Given the description of an element on the screen output the (x, y) to click on. 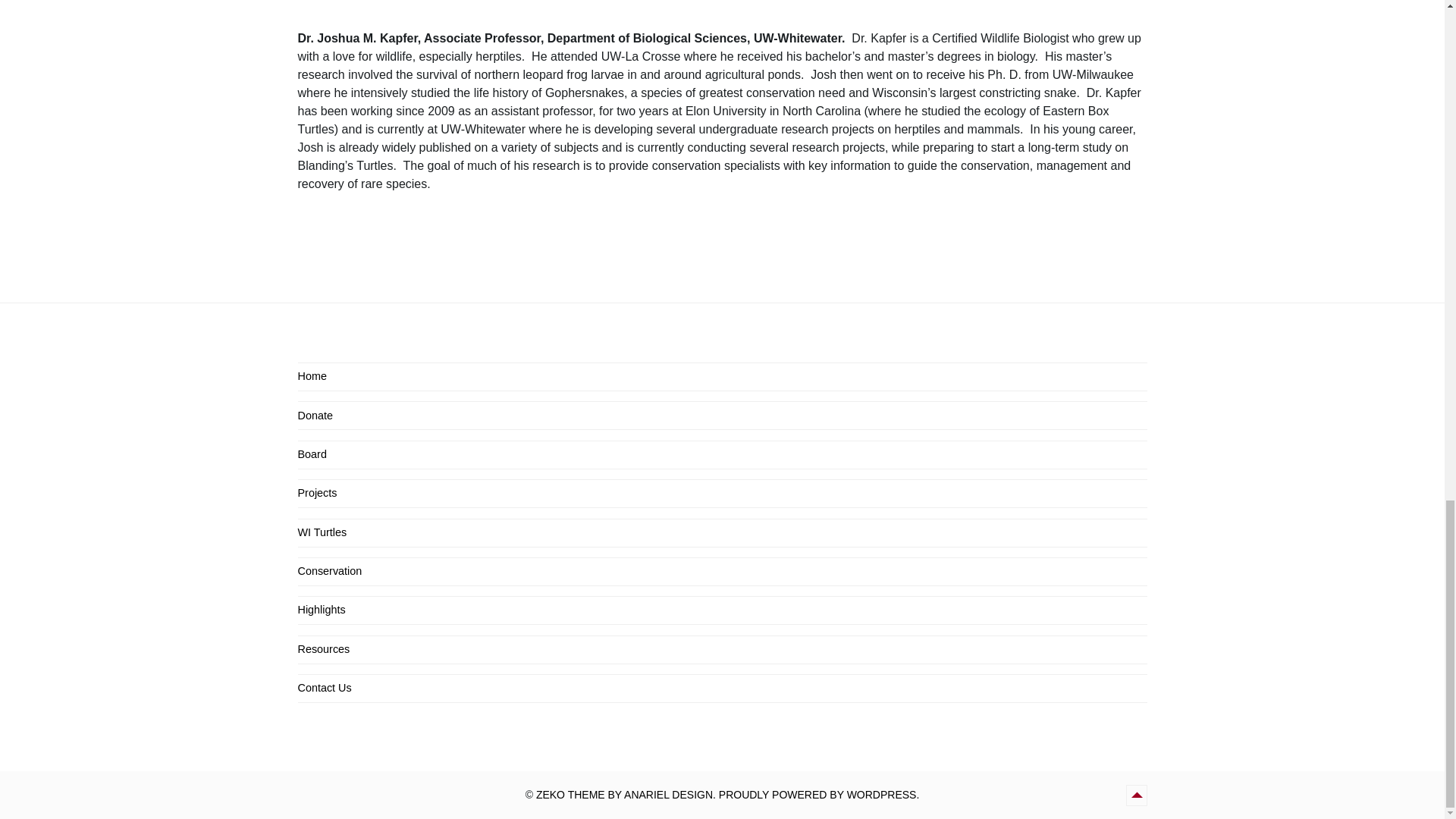
Highlights (321, 610)
Projects (316, 493)
Board (311, 454)
Resources (323, 649)
Donate (314, 416)
Contact Us (323, 688)
Home (311, 377)
Conservation (329, 571)
WI Turtles (321, 532)
ZEKO THEME BY ANARIEL DESIGN. PROUDLY POWERED BY WORDPRESS. (726, 795)
